Given the description of an element on the screen output the (x, y) to click on. 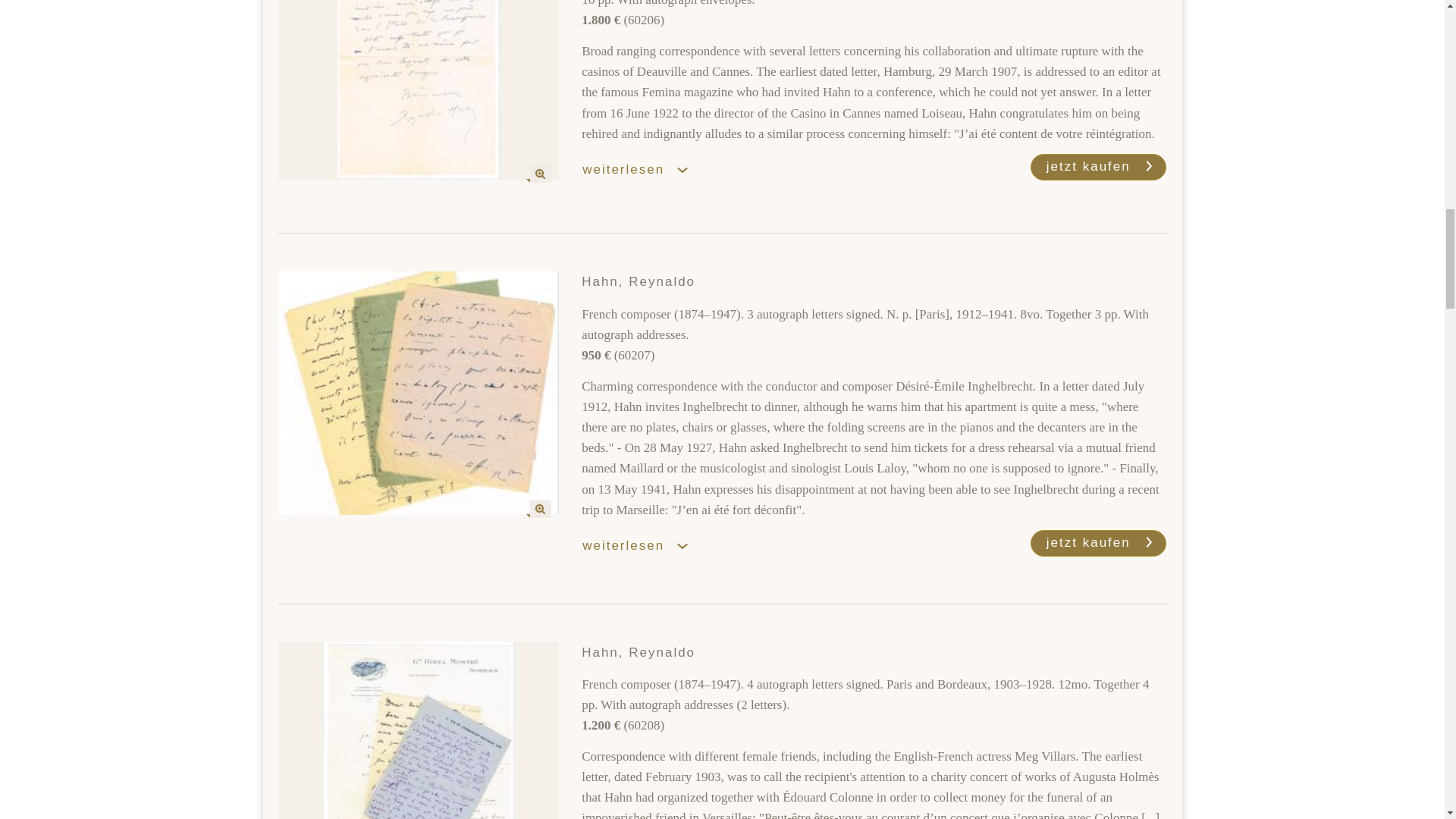
Hahn, Reynaldo (418, 393)
jetzt kaufen (1098, 166)
weiterlesen (642, 169)
Hahn, Reynaldo (418, 730)
Hahn, Reynaldo (418, 90)
